Given the description of an element on the screen output the (x, y) to click on. 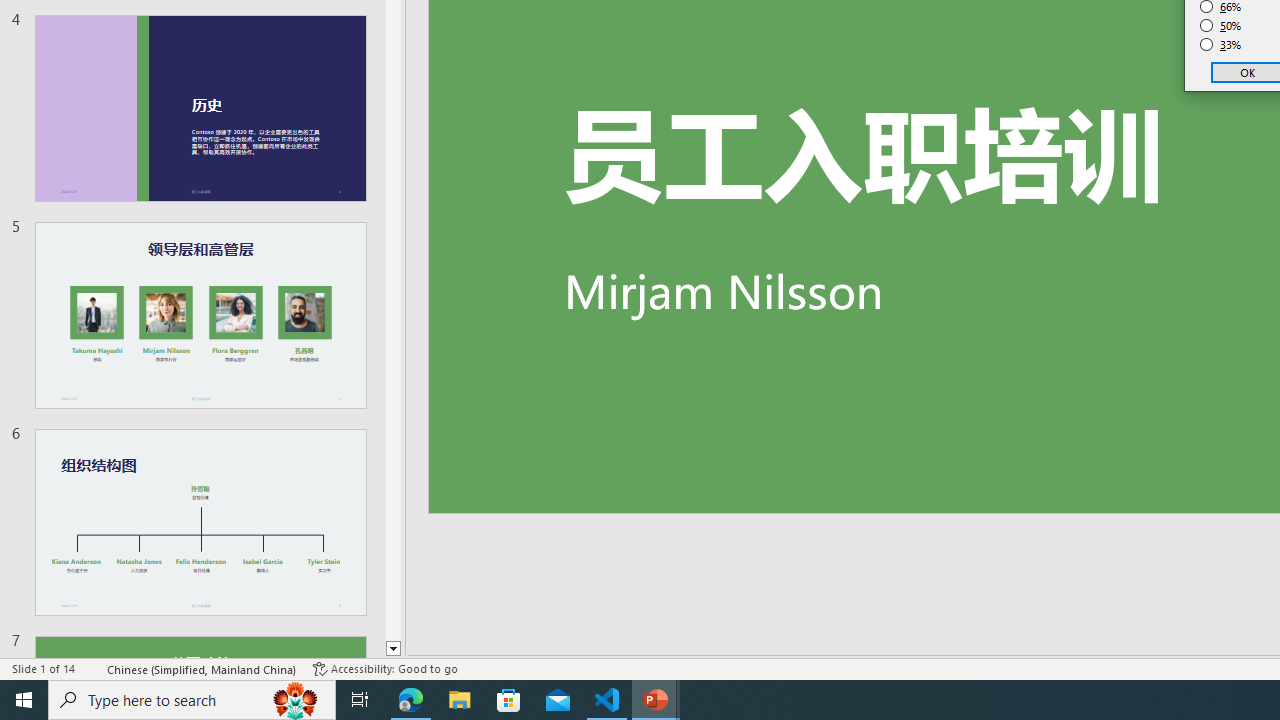
Task View (359, 699)
Microsoft Edge - 1 running window (411, 699)
Visual Studio Code - 1 running window (607, 699)
33% (1221, 44)
50% (1221, 25)
Microsoft Store (509, 699)
Search highlights icon opens search home window (295, 699)
Start (24, 699)
Type here to search (191, 699)
PowerPoint - 2 running windows (656, 699)
File Explorer (460, 699)
Spell Check  (92, 668)
Accessibility Checker Accessibility: Good to go (384, 668)
